Given the description of an element on the screen output the (x, y) to click on. 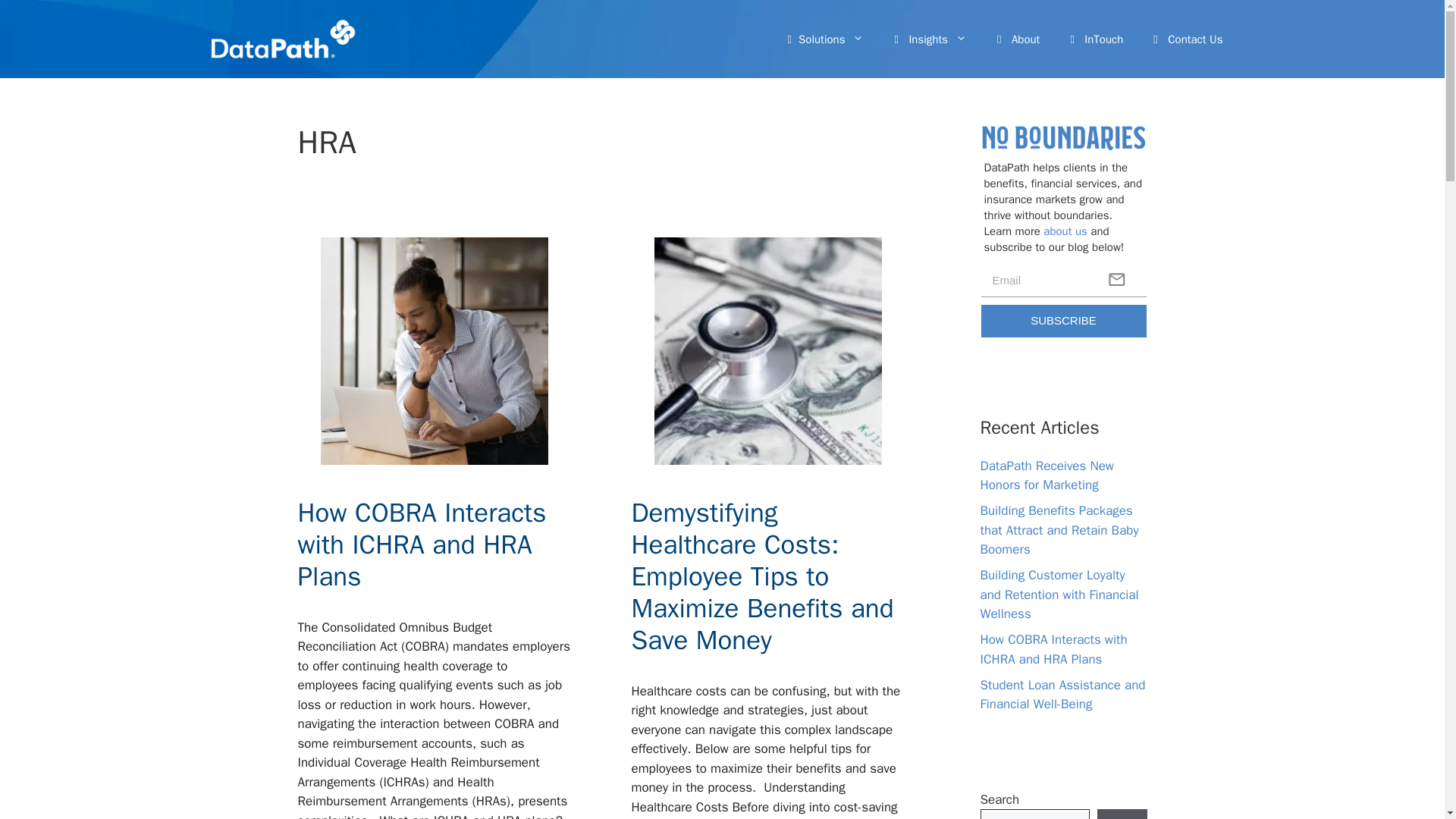
   Insights (930, 39)
   Contact Us (1187, 39)
  Solutions (826, 39)
   InTouch (1096, 39)
   About (1017, 39)
DataPath - No Boundaries (1063, 137)
How COBRA Interacts with ICHRA and HRA Plans (421, 544)
